Given the description of an element on the screen output the (x, y) to click on. 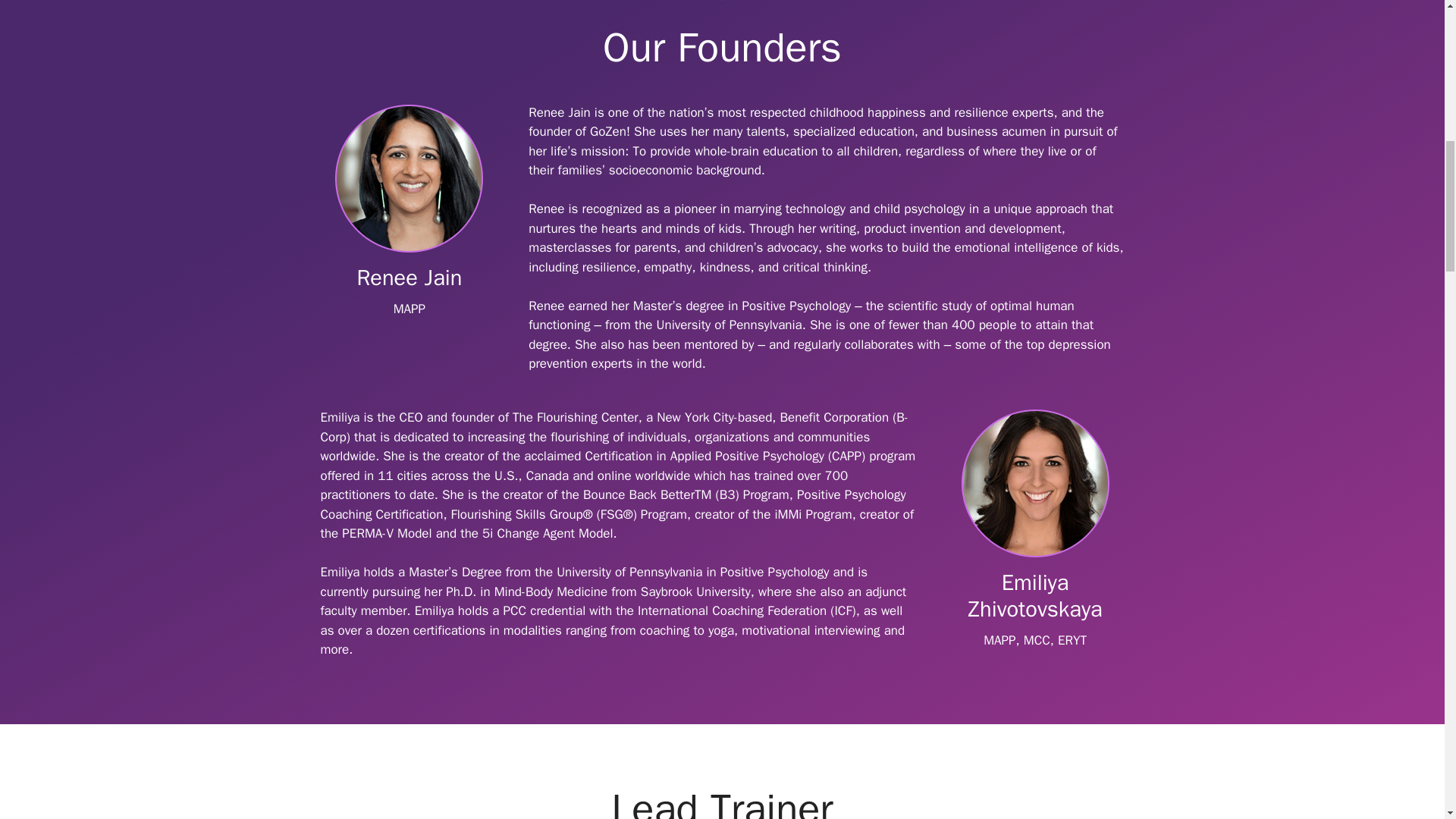
center-for-positive-education-favicon (721, 6)
emiliya (1034, 482)
renee (408, 178)
